Given the description of an element on the screen output the (x, y) to click on. 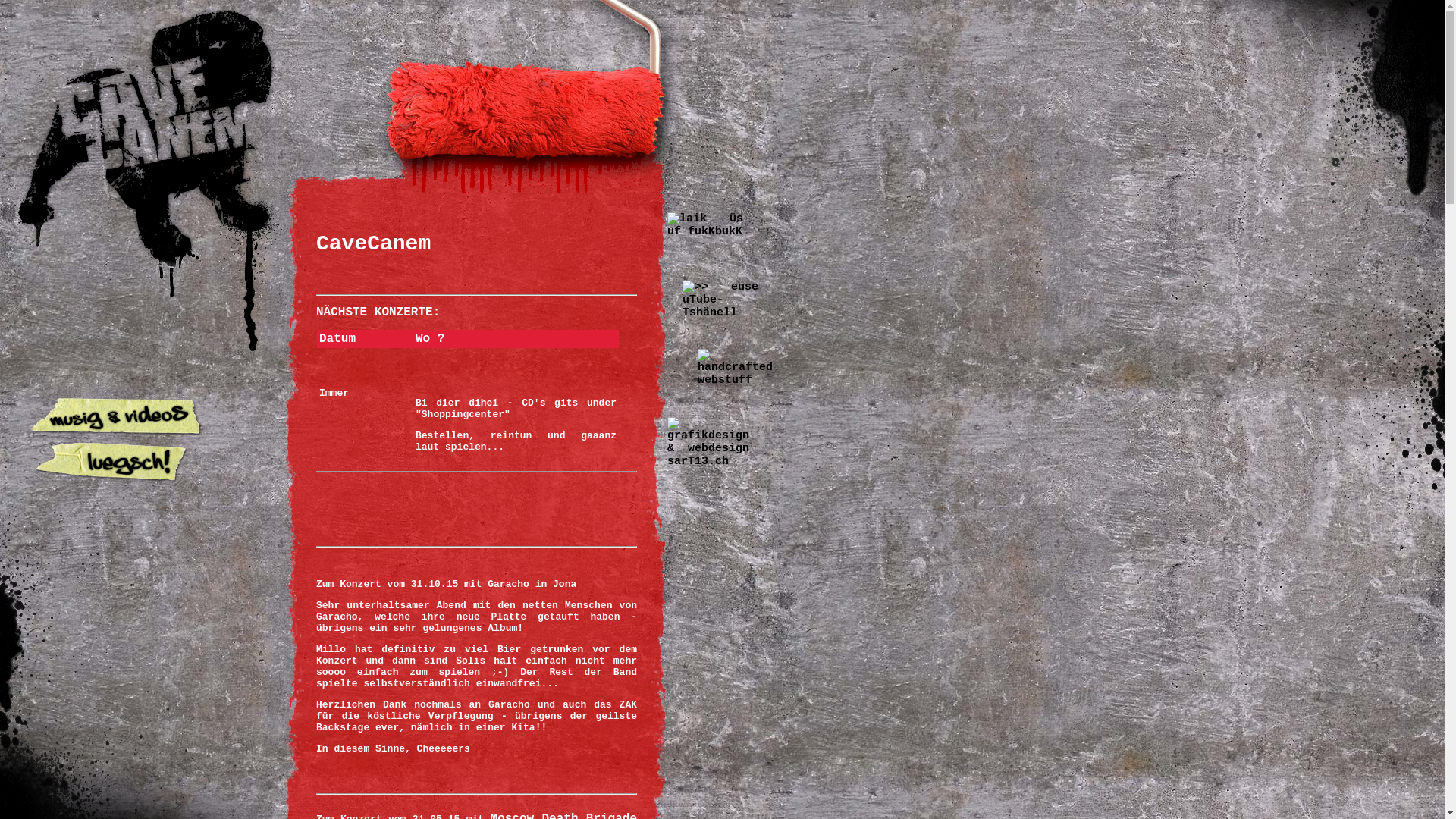
Steckbrief & Bandinfos Element type: hover (117, 371)
  Element type: text (117, 462)
  Element type: text (117, 598)
  Element type: text (117, 644)
Demo-Stuck & aktuelli Videos Element type: hover (117, 416)
  Element type: text (117, 507)
  Element type: text (117, 553)
  Element type: text (117, 371)
Pressetext & -fotos / Bios / TechRider Element type: hover (117, 644)
  Element type: text (117, 325)
Kontakt / Booking / Aafroge Element type: hover (117, 598)
  Element type: text (117, 416)
CDs chaufe / Merchandising / Wallpapers & Logos Element type: hover (117, 507)
Datebank vo Fotos & Konzertvideos Element type: hover (117, 462)
